Given the description of an element on the screen output the (x, y) to click on. 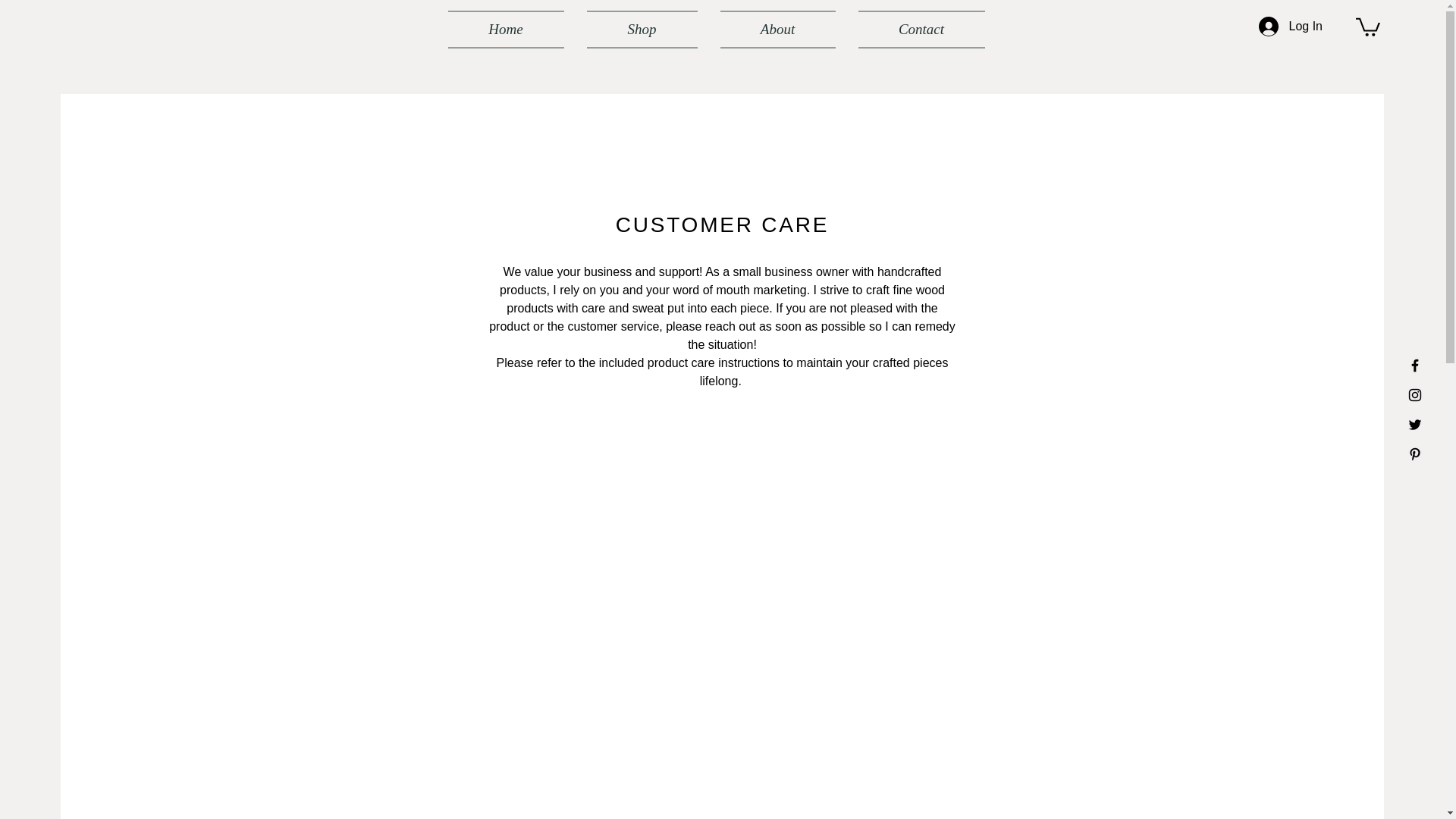
Home (510, 29)
Shop (641, 29)
Contact (914, 29)
About (776, 29)
Log In (1290, 26)
